Given the description of an element on the screen output the (x, y) to click on. 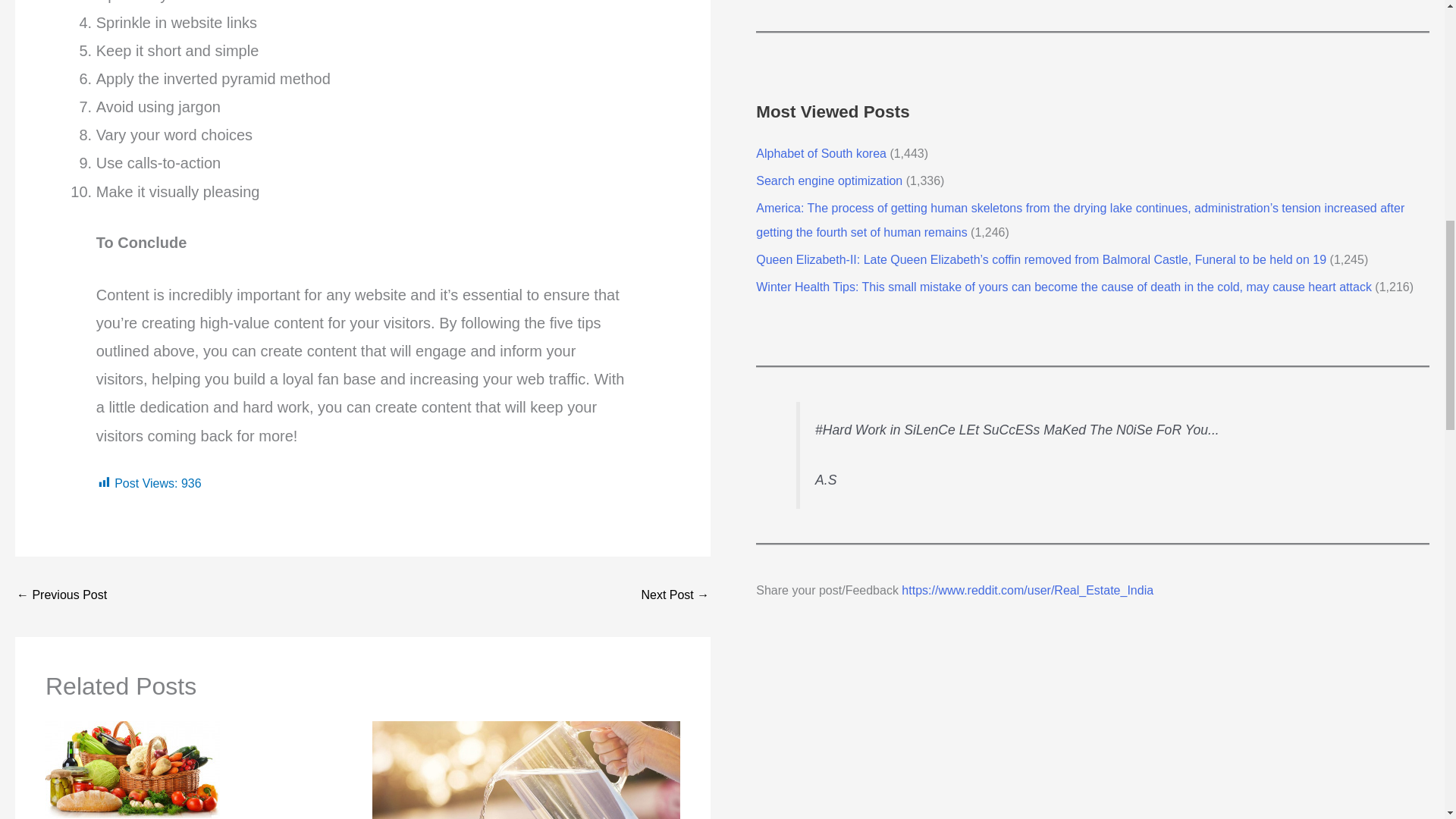
How to learn korean languege in Simple Steps (674, 596)
